Given the description of an element on the screen output the (x, y) to click on. 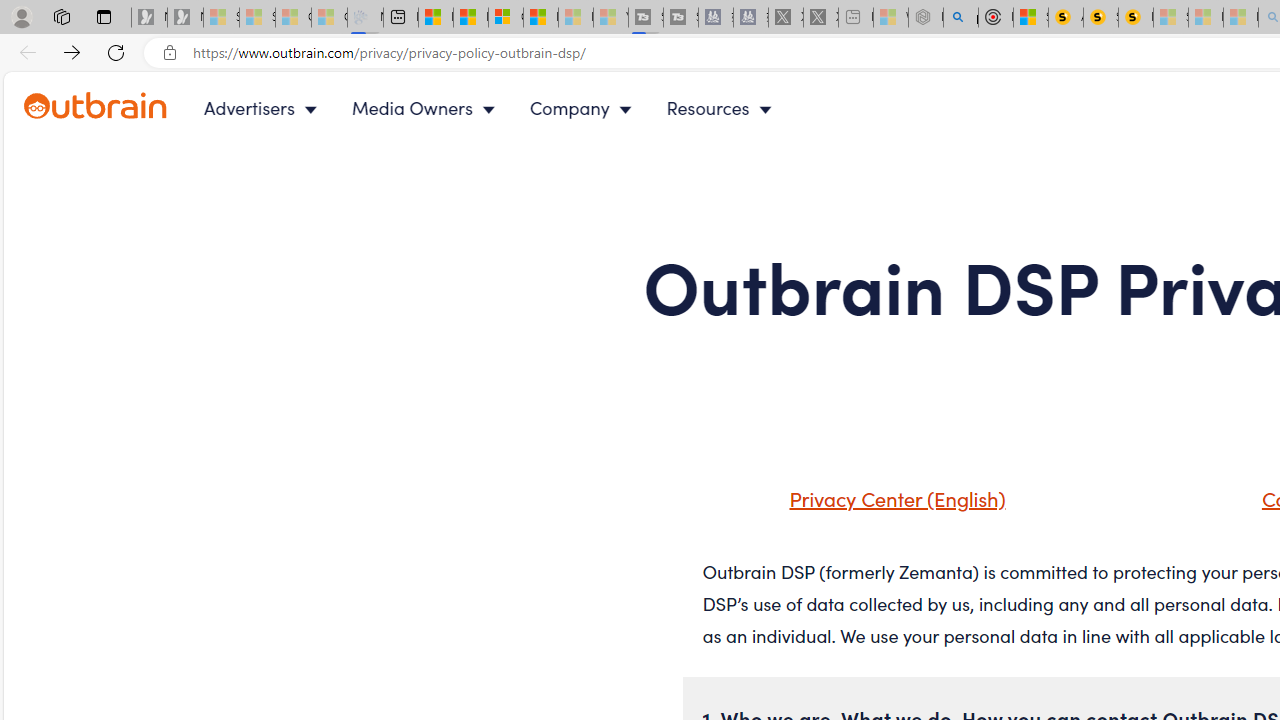
Outbrain logo - link to homepage (96, 106)
Company (585, 107)
Resources (723, 107)
Forward (72, 52)
Nordace - Summer Adventures 2024 - Sleeping (925, 17)
